Given the description of an element on the screen output the (x, y) to click on. 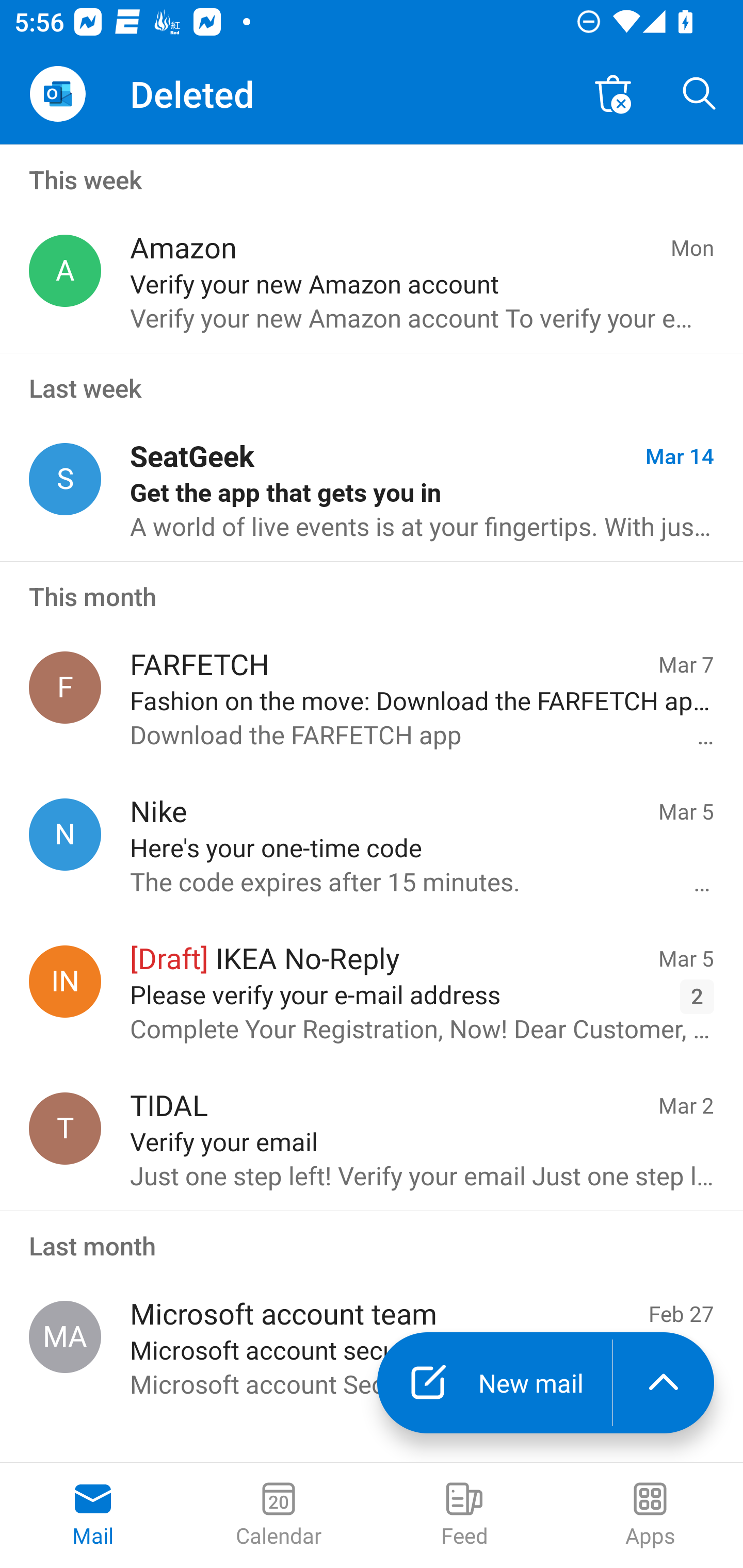
Empty Deleted (612, 93)
Search, ,  (699, 93)
Open Navigation Drawer (57, 94)
Amazon, account-update@amazon.com (64, 271)
SeatGeek, events@seatgeek.com (64, 479)
FARFETCH, farfetch@email.farfetch.com (64, 687)
Nike, nike@notifications.nike.com (64, 834)
IKEA No-Reply, noreply@ikea.com.hk (64, 981)
TIDAL, account@info.tidal.com (64, 1128)
New mail (494, 1382)
launch the extended action menu (663, 1382)
Calendar (278, 1515)
Feed (464, 1515)
Apps (650, 1515)
